Given the description of an element on the screen output the (x, y) to click on. 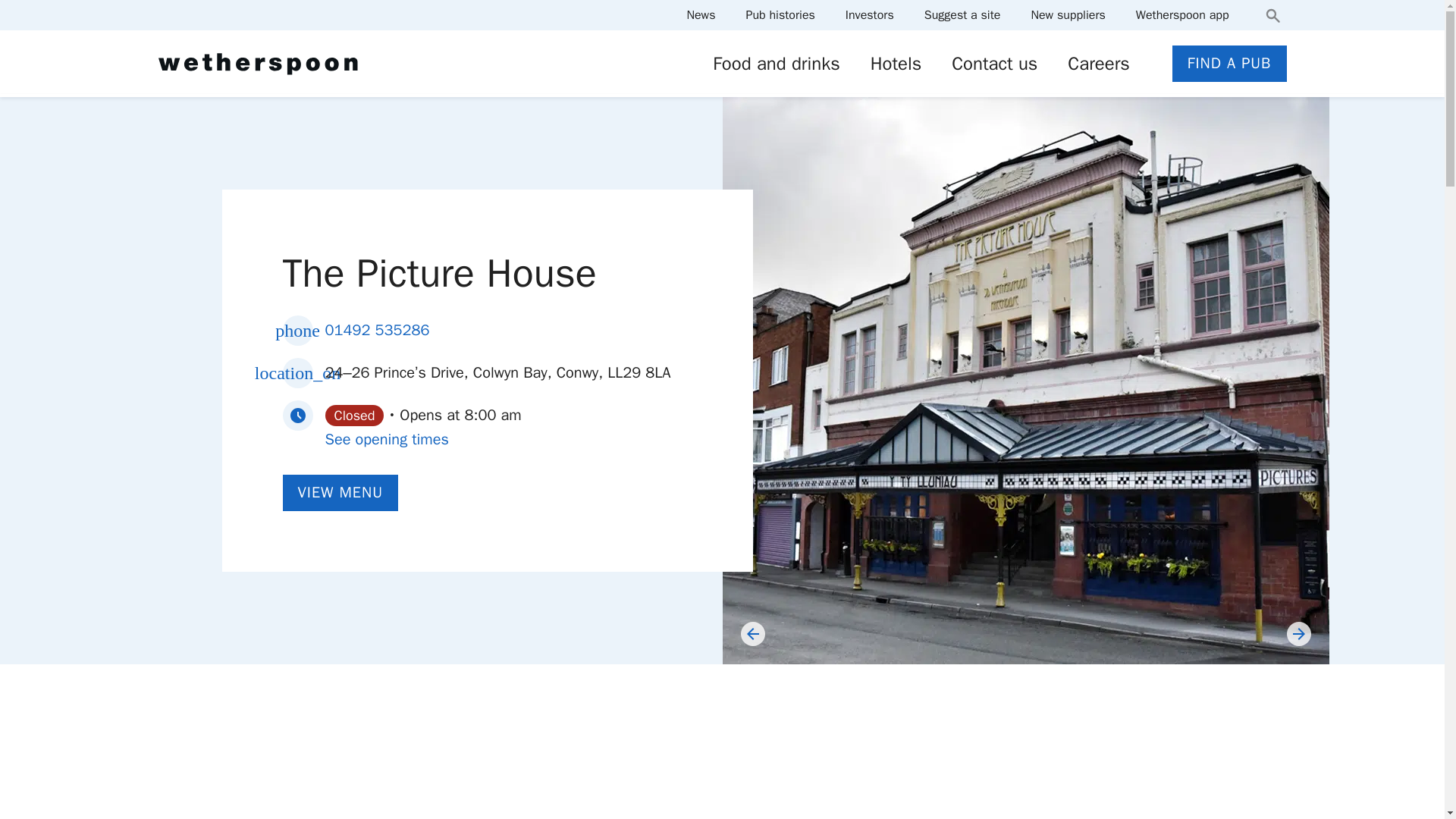
Food and drinks (776, 63)
J D Wetherspoon (256, 64)
News (699, 14)
Contact us (994, 63)
New suppliers (1067, 14)
01492 535286 (376, 330)
FIND A PUB (1229, 63)
See opening times (386, 438)
Hotels (895, 63)
Investors (869, 14)
Suggest a site (962, 14)
VIEW MENU (339, 493)
Pub histories (779, 14)
Search (1272, 14)
Careers (1098, 63)
